Given the description of an element on the screen output the (x, y) to click on. 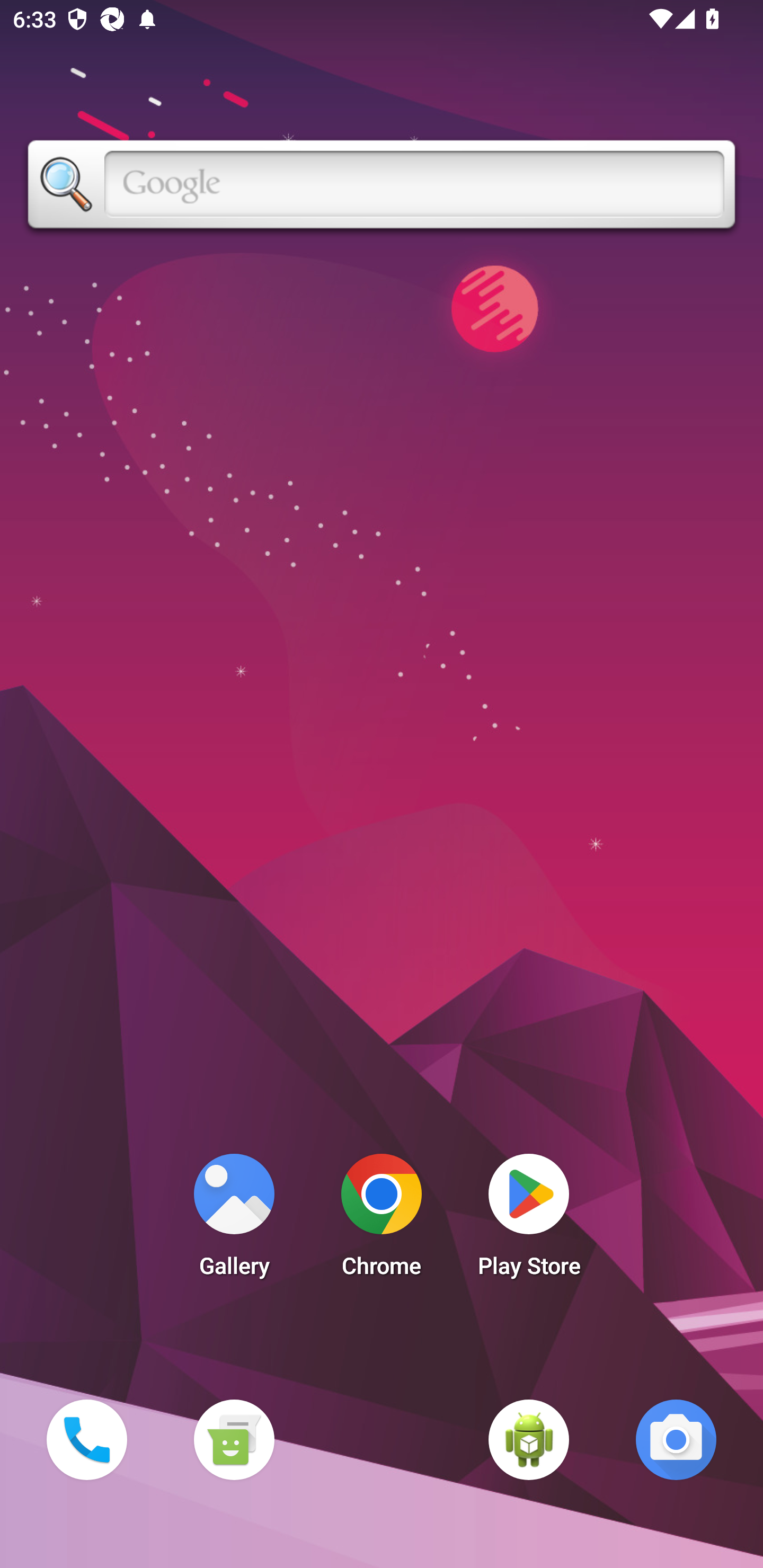
Gallery (233, 1220)
Chrome (381, 1220)
Play Store (528, 1220)
Phone (86, 1439)
Messaging (233, 1439)
WebView Browser Tester (528, 1439)
Camera (676, 1439)
